Given the description of an element on the screen output the (x, y) to click on. 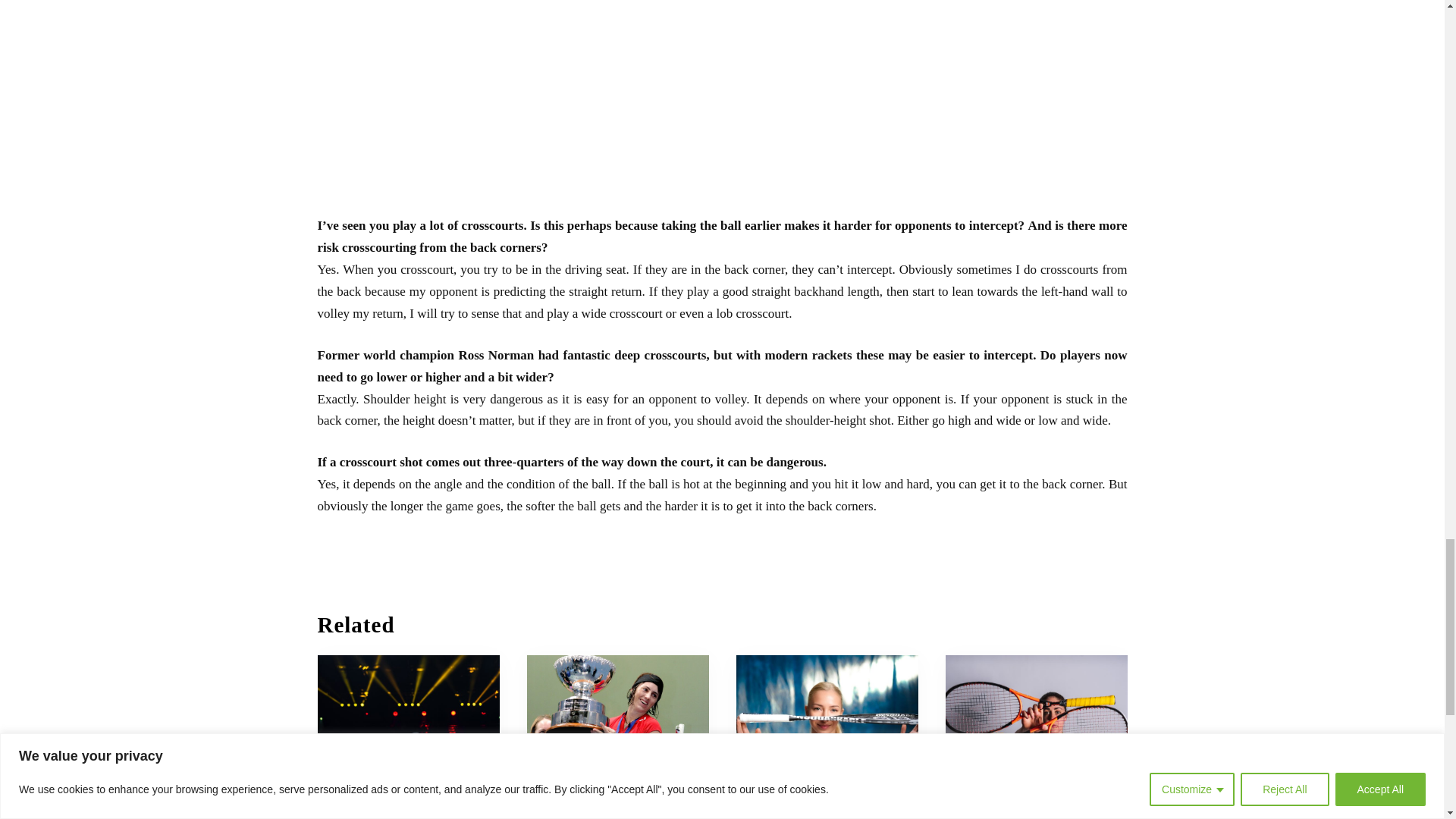
Mazen Hesham: Pragmatism Over Perfection (408, 718)
Mazen Hesham: Pragmatism Over Perfection (393, 809)
Tesni: Comeback is Gaining Momentum (1030, 809)
Tesni: Comeback is Gaining Momentum (1035, 718)
